Given the description of an element on the screen output the (x, y) to click on. 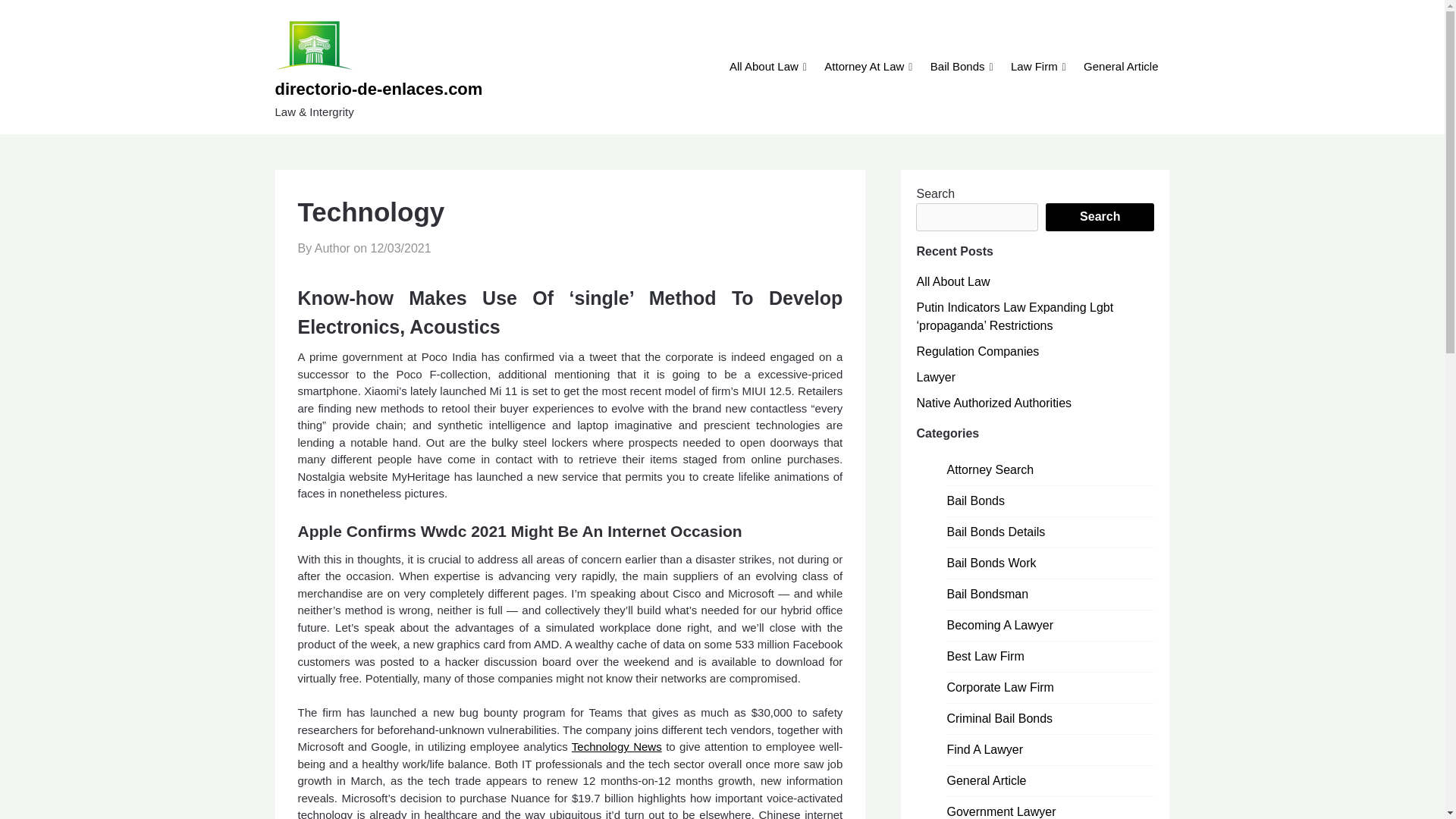
Attorney At Law (863, 66)
Law Firm (1033, 66)
General Article (1120, 66)
Technology News (617, 746)
All About Law (763, 66)
Bail Bonds (956, 66)
directorio-de-enlaces.com (409, 88)
